Given the description of an element on the screen output the (x, y) to click on. 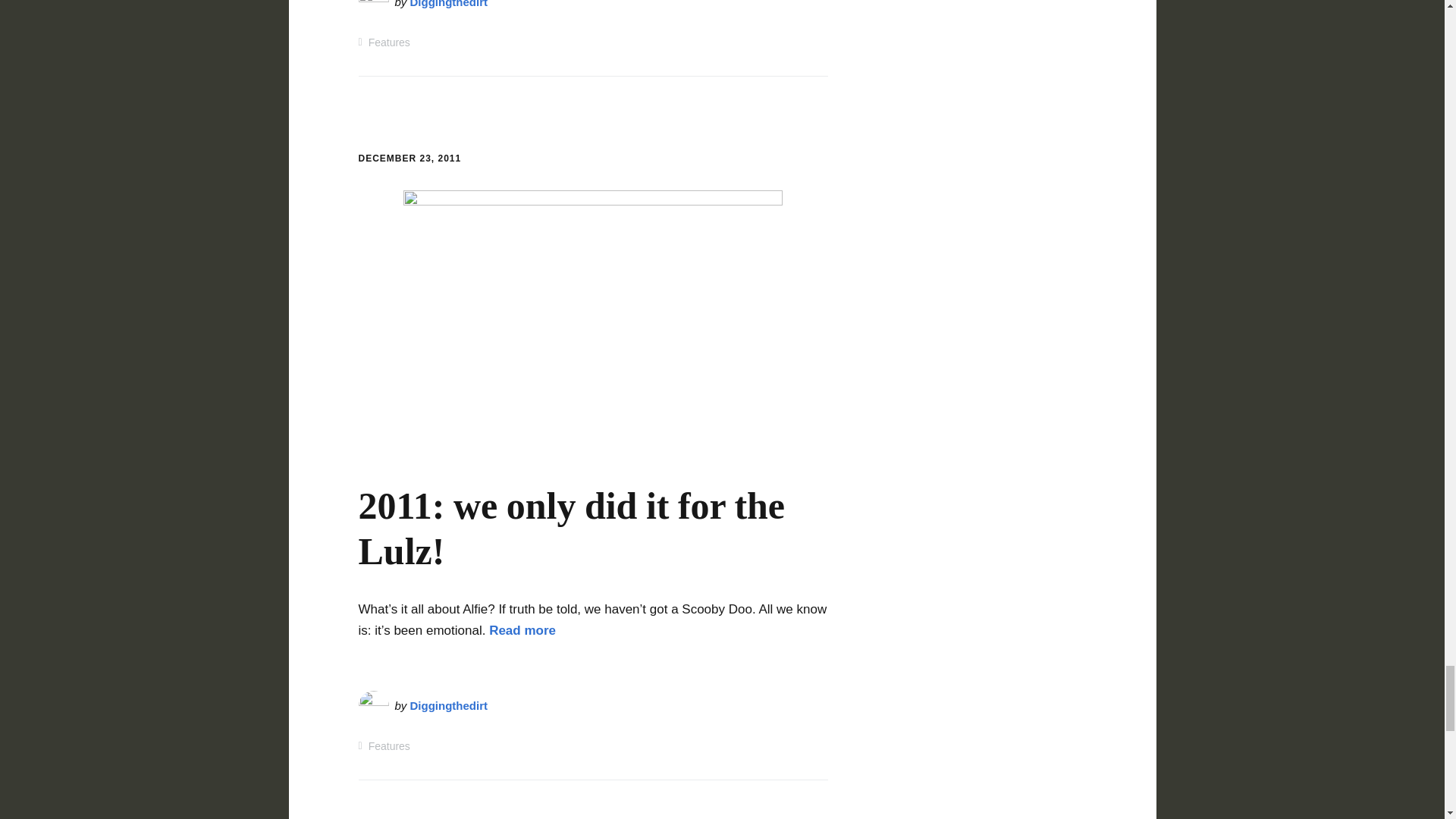
Features (389, 42)
Diggingthedirt (448, 4)
DECEMBER 23, 2011 (409, 158)
2011: we only did it for the Lulz! (571, 528)
Read more (522, 630)
